Given the description of an element on the screen output the (x, y) to click on. 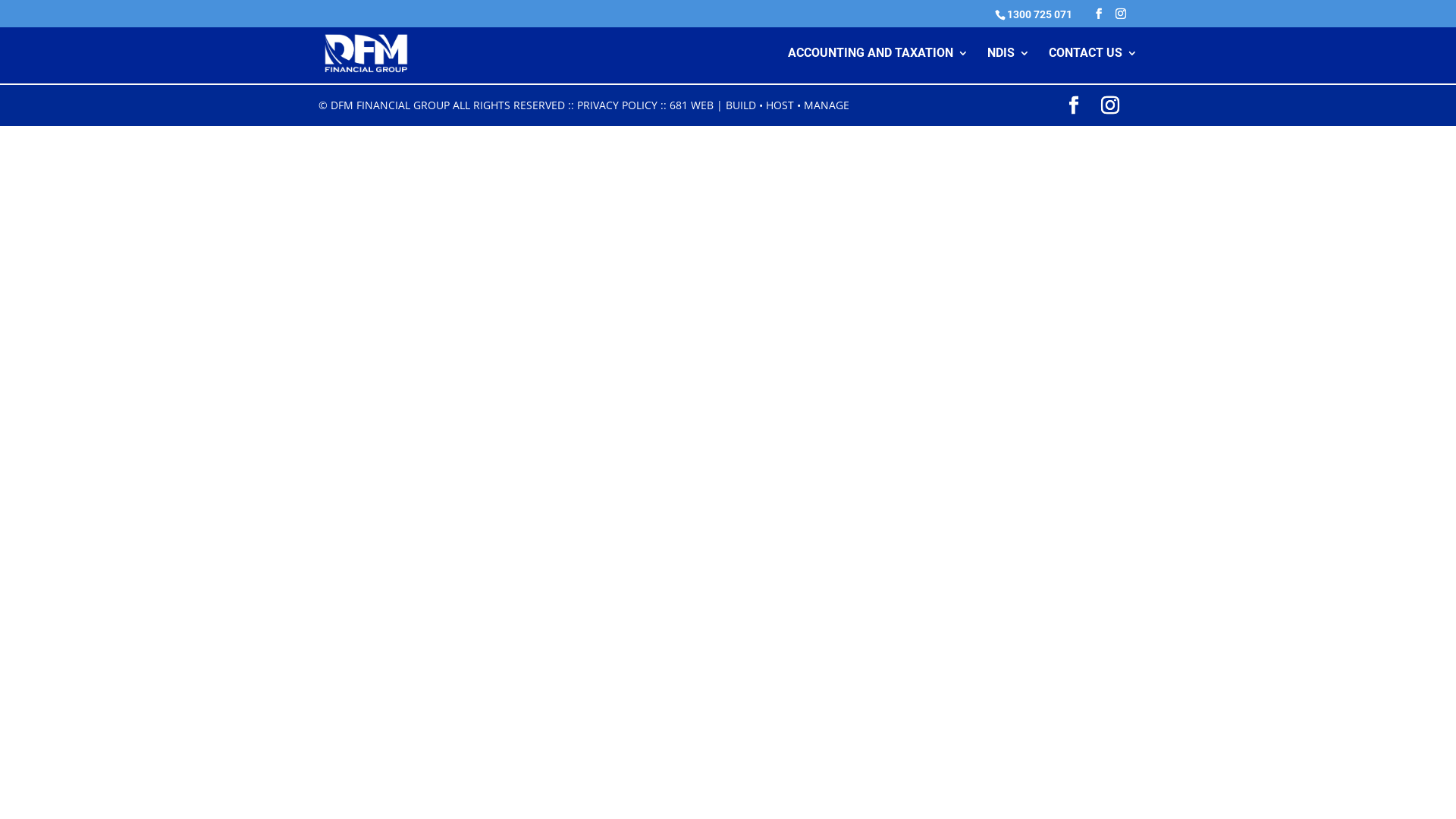
1300 725 071 Element type: text (1039, 13)
NDIS Element type: text (1008, 65)
ACCOUNTING AND TAXATION Element type: text (877, 65)
CONTACT US Element type: text (1092, 65)
PRIVACY POLICY Element type: text (617, 104)
